Given the description of an element on the screen output the (x, y) to click on. 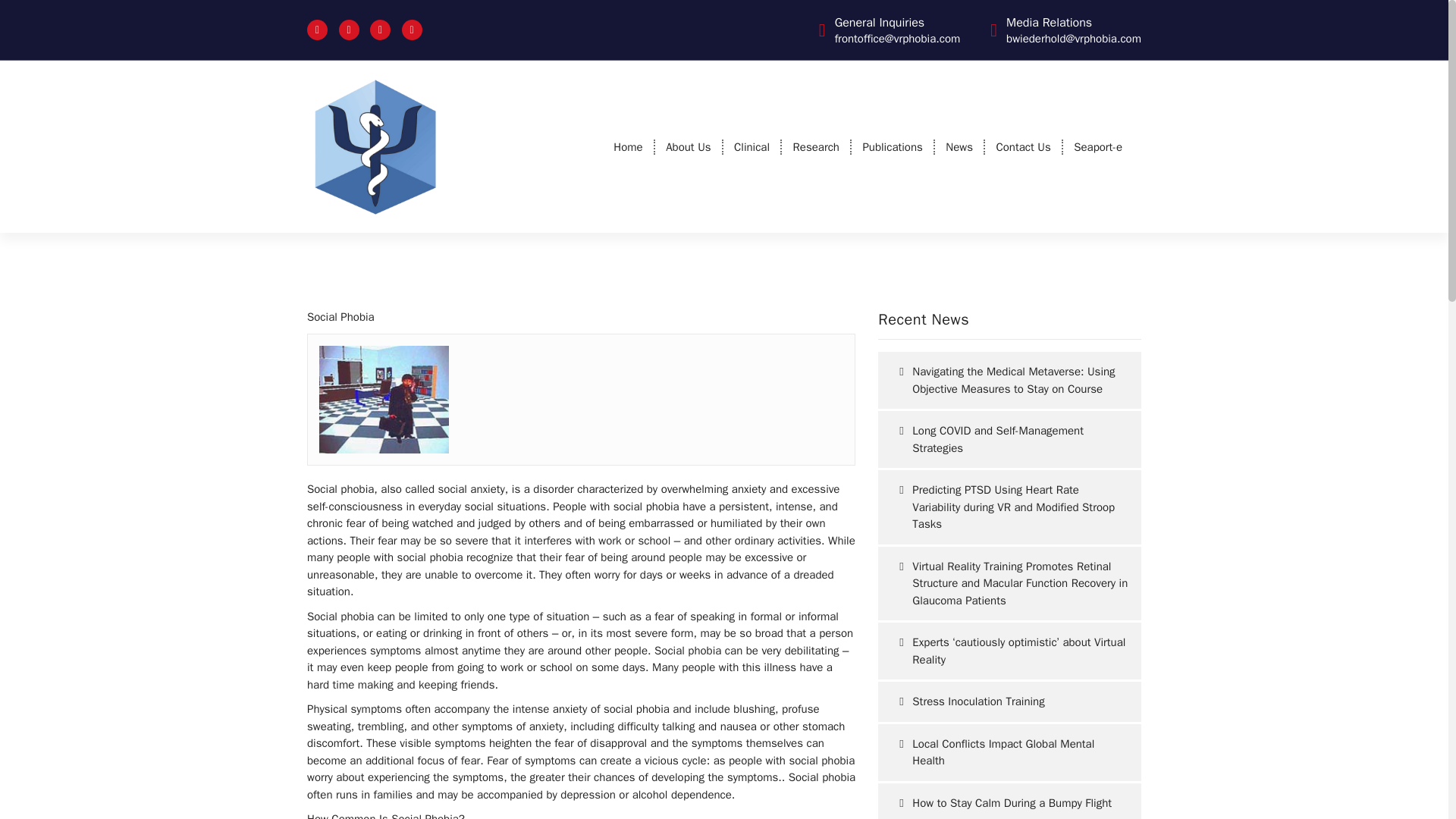
Research (815, 146)
Contact Us (1023, 146)
Research (815, 146)
Publications (892, 146)
News (959, 146)
Seaport-e (1097, 146)
Contact Us (1023, 146)
Home (627, 146)
News (959, 146)
